Given the description of an element on the screen output the (x, y) to click on. 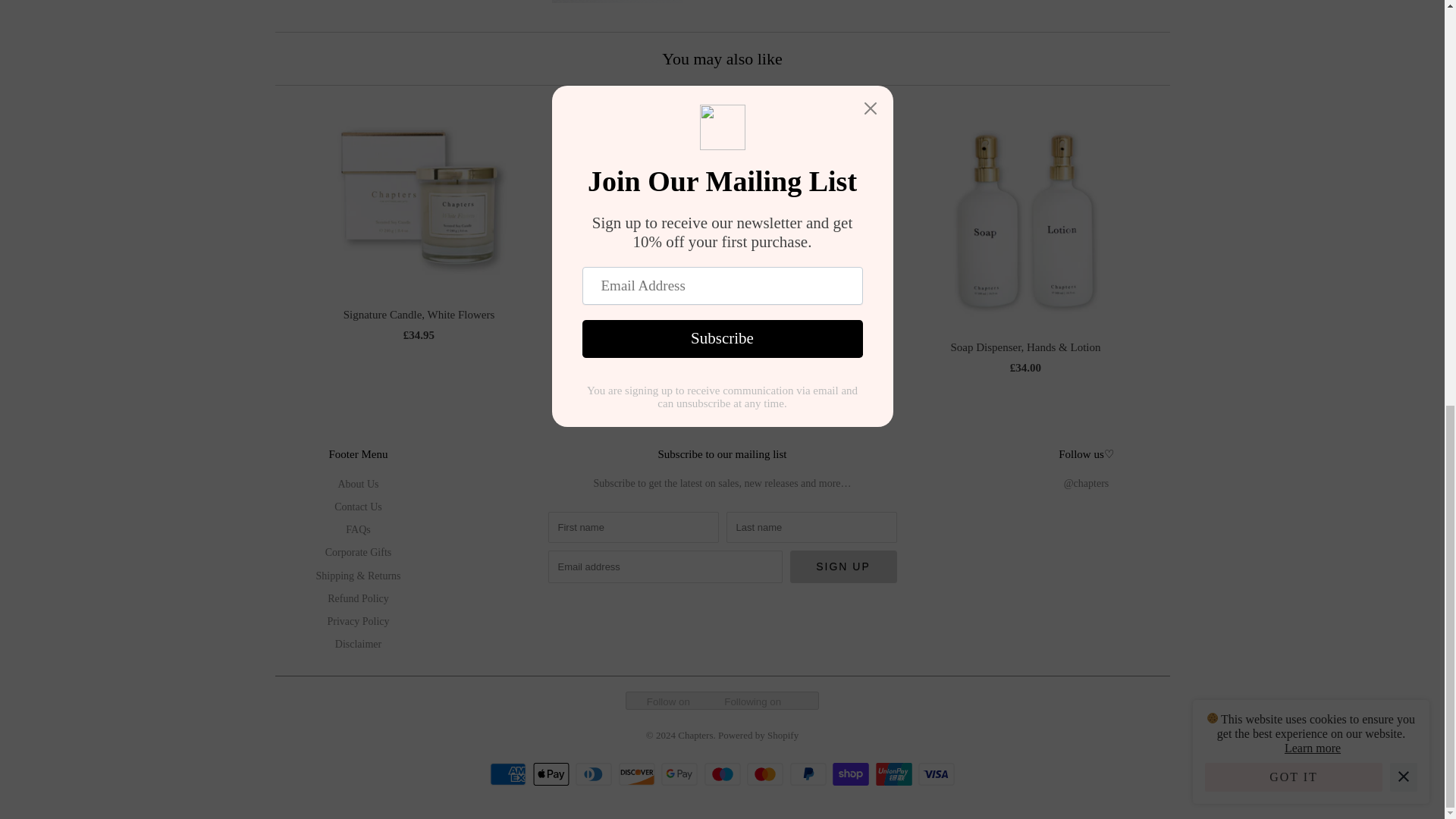
Mastercard (766, 773)
American Express (509, 773)
Google Pay (681, 773)
Visa (936, 773)
Sign Up (843, 566)
Apple Pay (552, 773)
Maestro (723, 773)
Discover (638, 773)
PayPal (809, 773)
Shop Pay (852, 773)
Union Pay (895, 773)
Diners Club (595, 773)
